Given the description of an element on the screen output the (x, y) to click on. 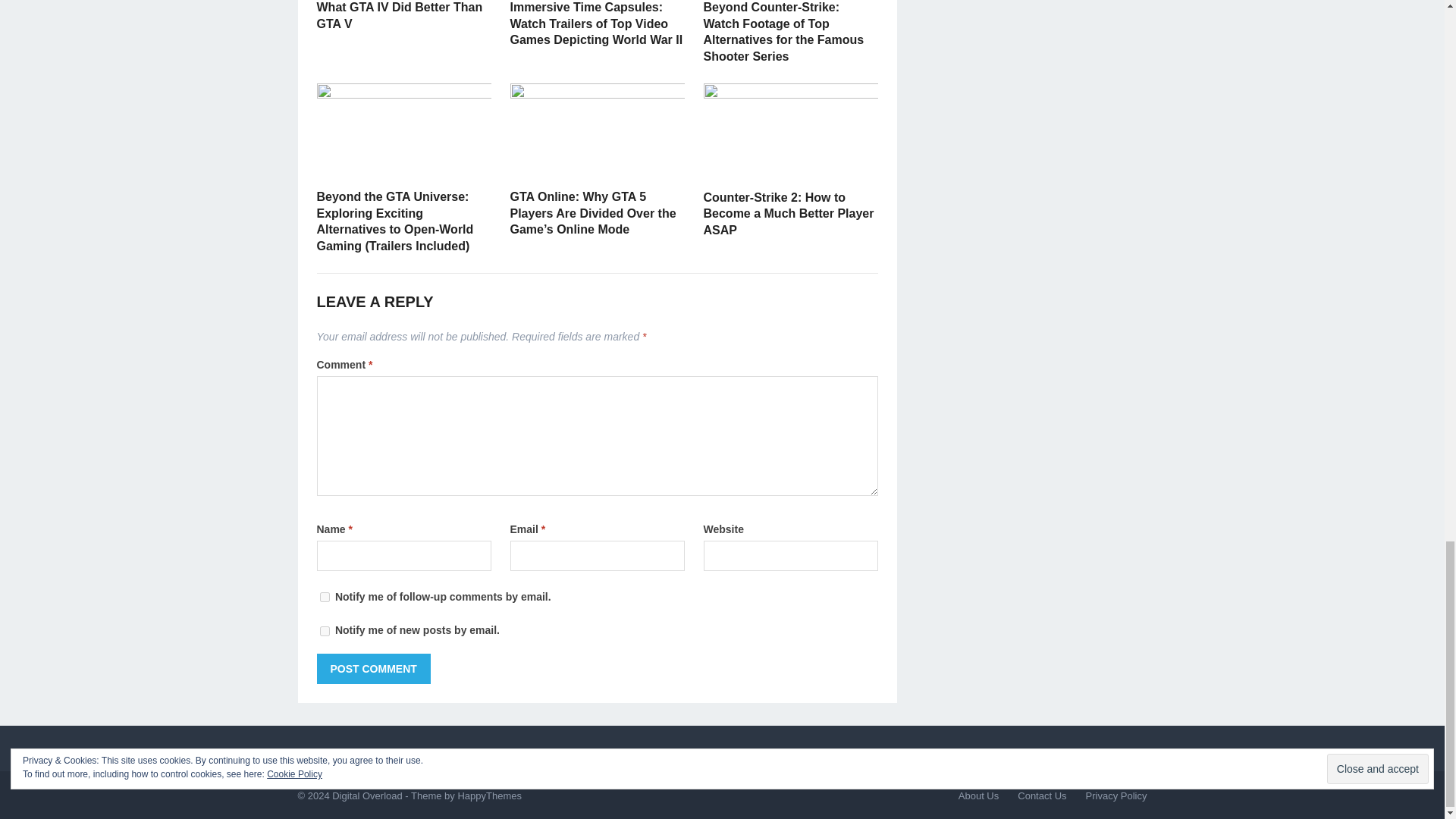
Post Comment (373, 668)
Counter-Strike 2: How to Become a Much Better Player ASAP (789, 213)
What GTA IV Did Better Than GTA V (400, 15)
subscribe (325, 596)
Post Comment (373, 668)
subscribe (325, 631)
